Given the description of an element on the screen output the (x, y) to click on. 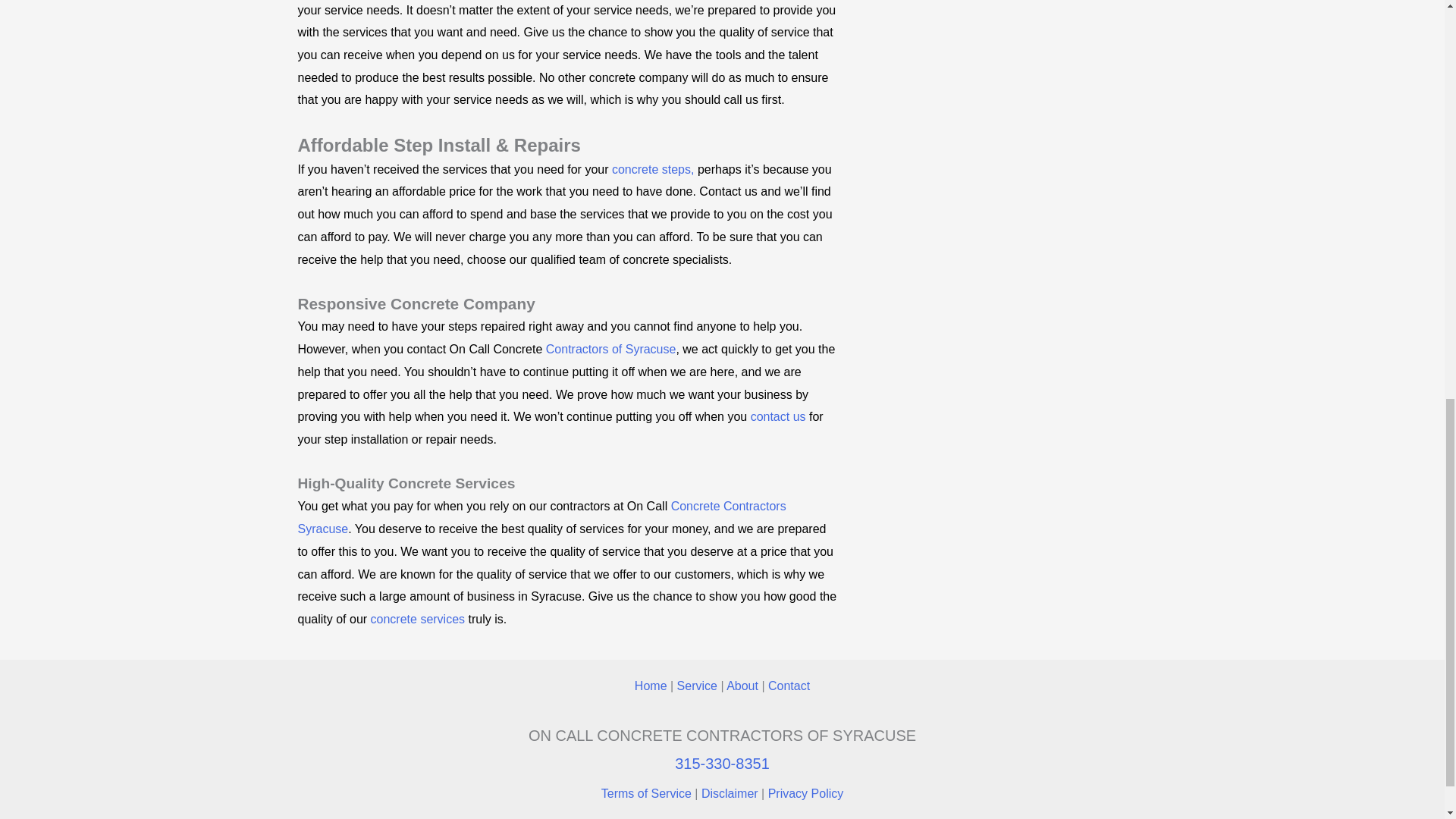
Terms of Service (646, 793)
315-330-8351 (722, 763)
About (742, 685)
concrete services (418, 618)
Service (697, 685)
Contractors of Syracuse (611, 349)
Contact (788, 685)
concrete steps, (652, 169)
Concrete Contractors Syracuse (541, 517)
contact us (778, 416)
